Given the description of an element on the screen output the (x, y) to click on. 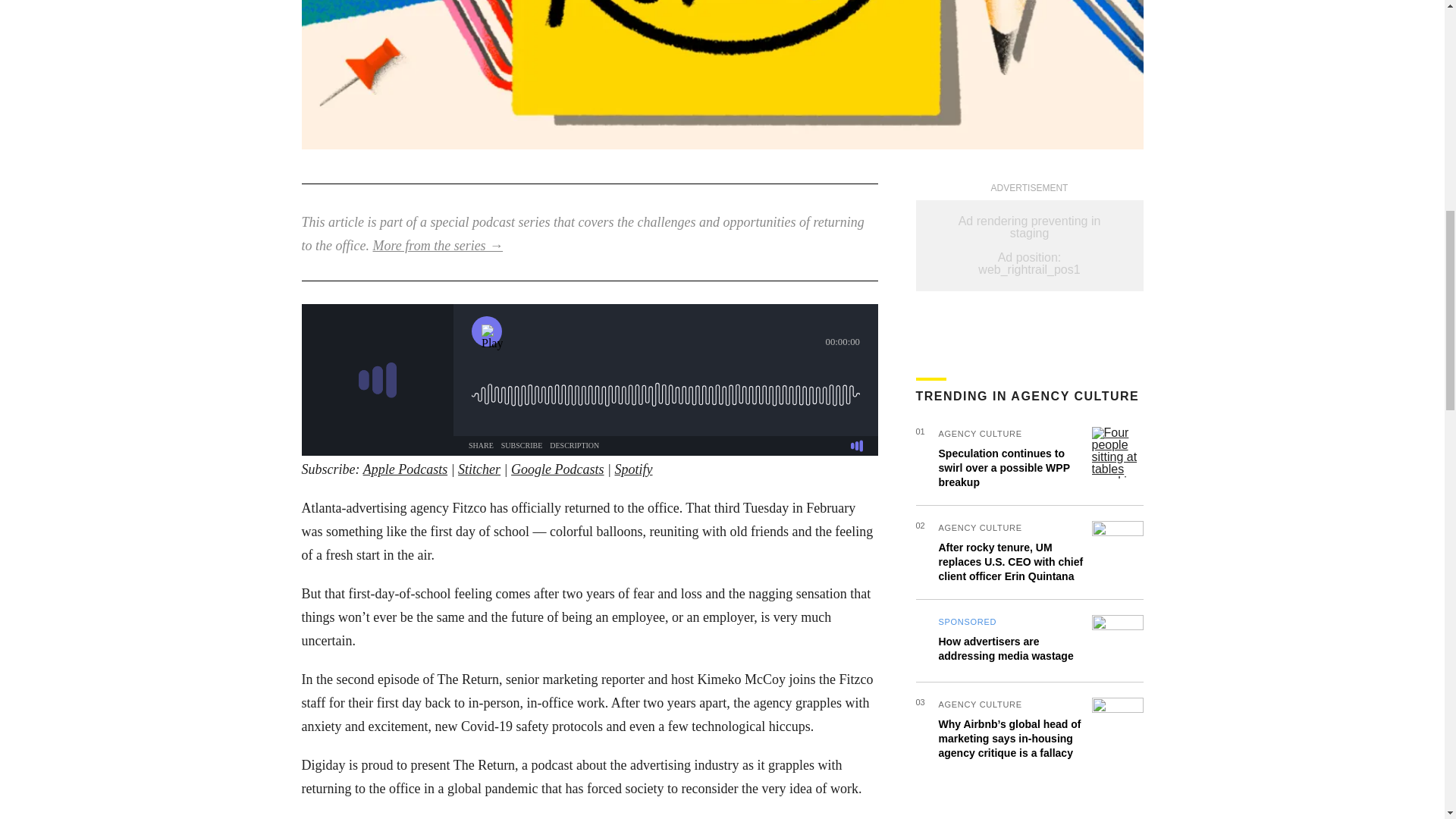
Speculation continues to swirl over a possible WPP breakup (1004, 467)
How advertisers are addressing media wastage (1006, 648)
